Given the description of an element on the screen output the (x, y) to click on. 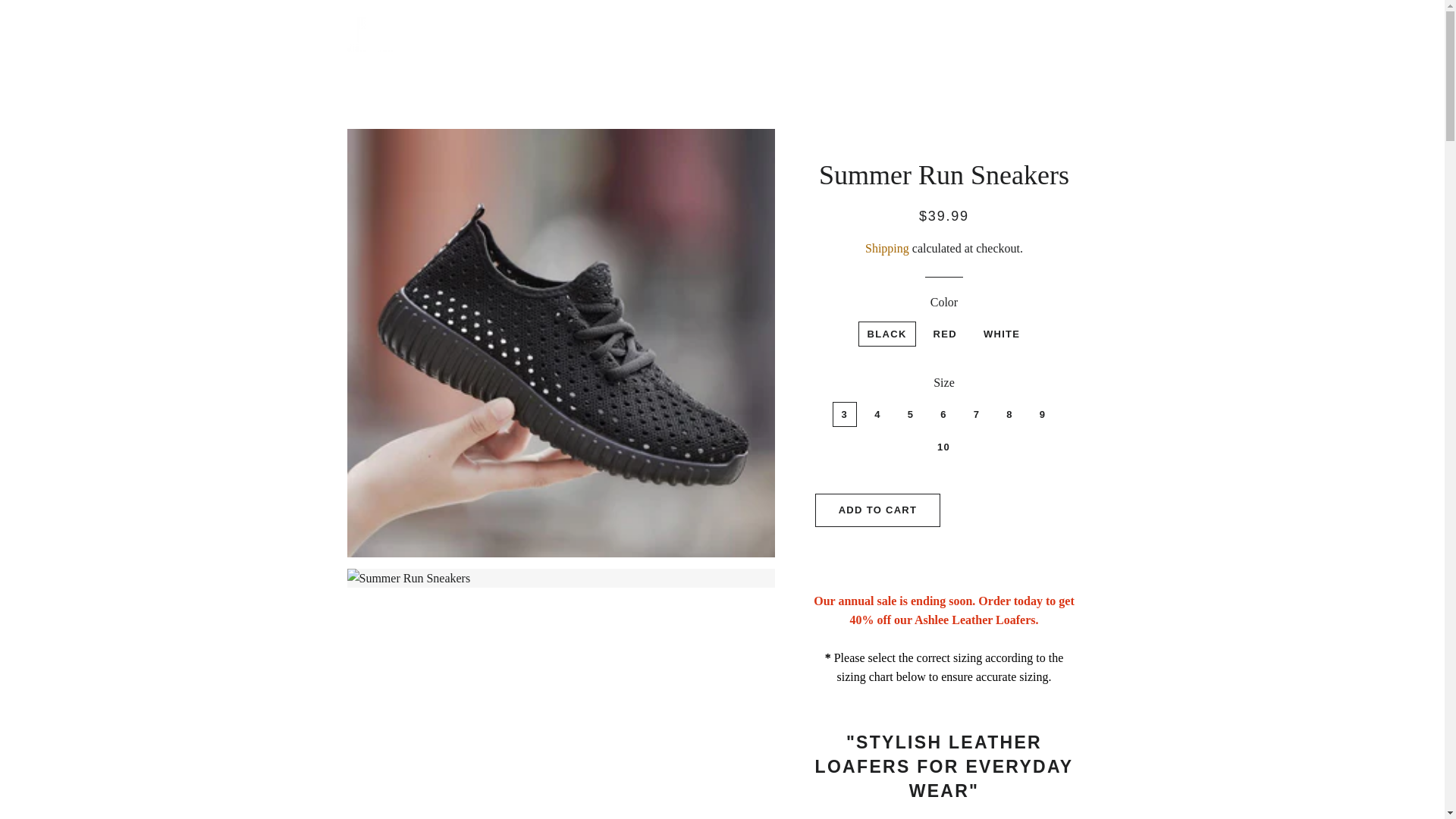
ADD TO CART (877, 510)
Shipping (886, 247)
